Given the description of an element on the screen output the (x, y) to click on. 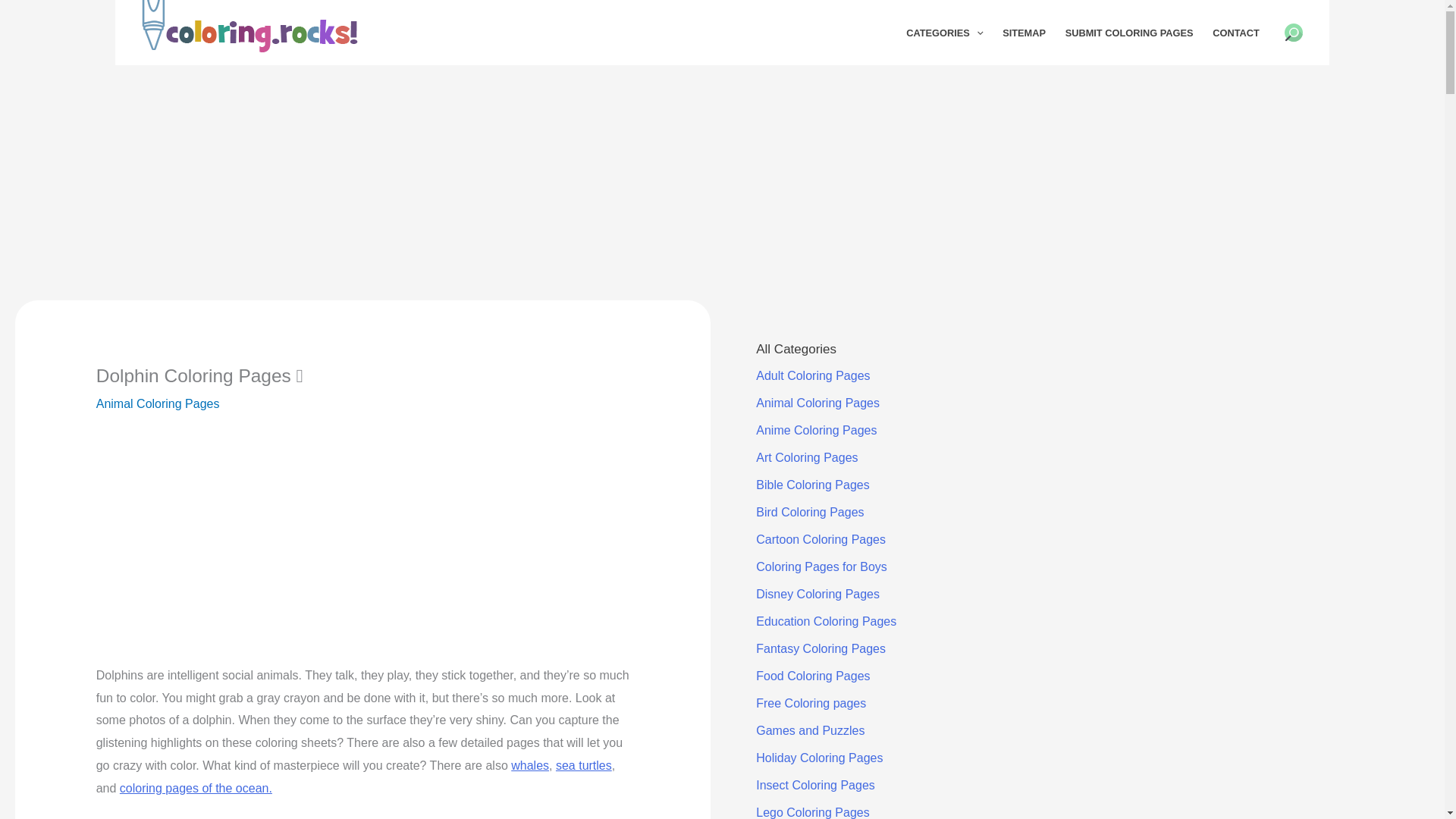
SUBMIT COLORING PAGES (1129, 32)
SITEMAP (1023, 32)
CATEGORIES (944, 32)
Advertisement (363, 542)
CONTACT (1235, 32)
